Given the description of an element on the screen output the (x, y) to click on. 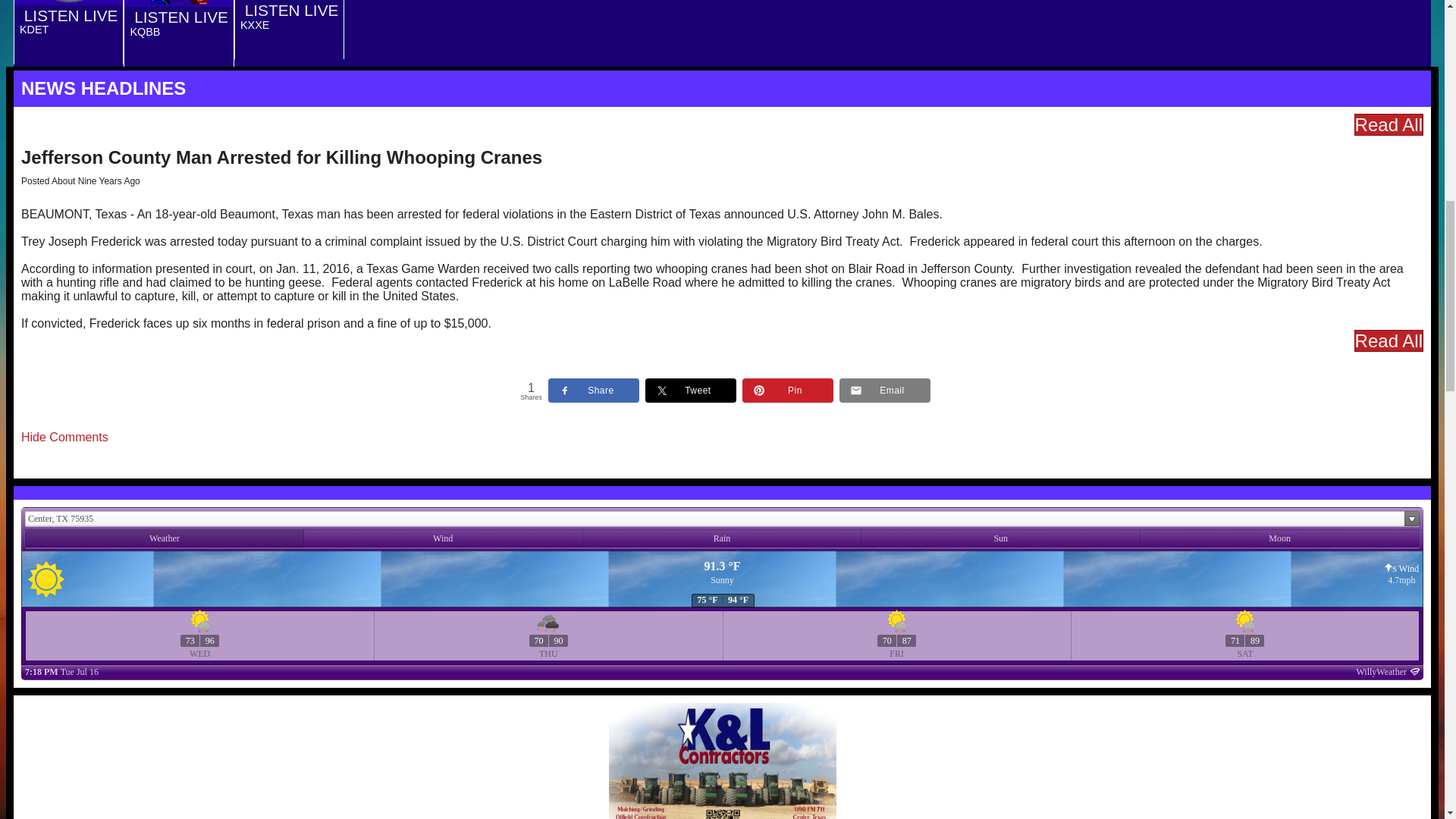
Listen to KXXE (288, 9)
Visit KXXE Page (243, 46)
Listen to KDET (68, 15)
Listen to KQBB (178, 16)
Visit KQBB Page (132, 53)
Visit KDET Page (22, 51)
Read All (1388, 124)
